Given the description of an element on the screen output the (x, y) to click on. 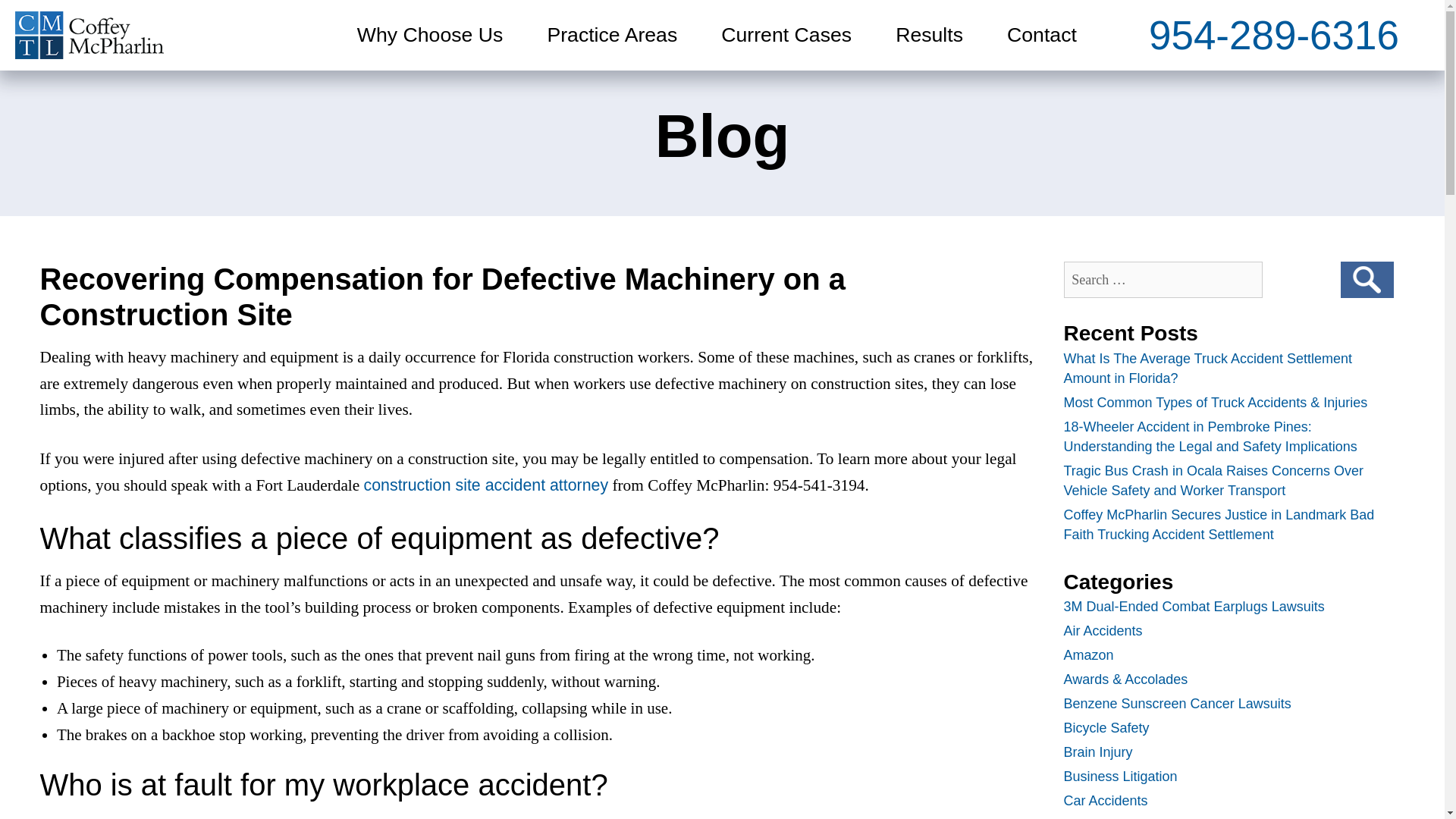
Results (929, 35)
Practice Areas (611, 35)
Current Cases (786, 35)
Why Choose Us (430, 35)
